Given the description of an element on the screen output the (x, y) to click on. 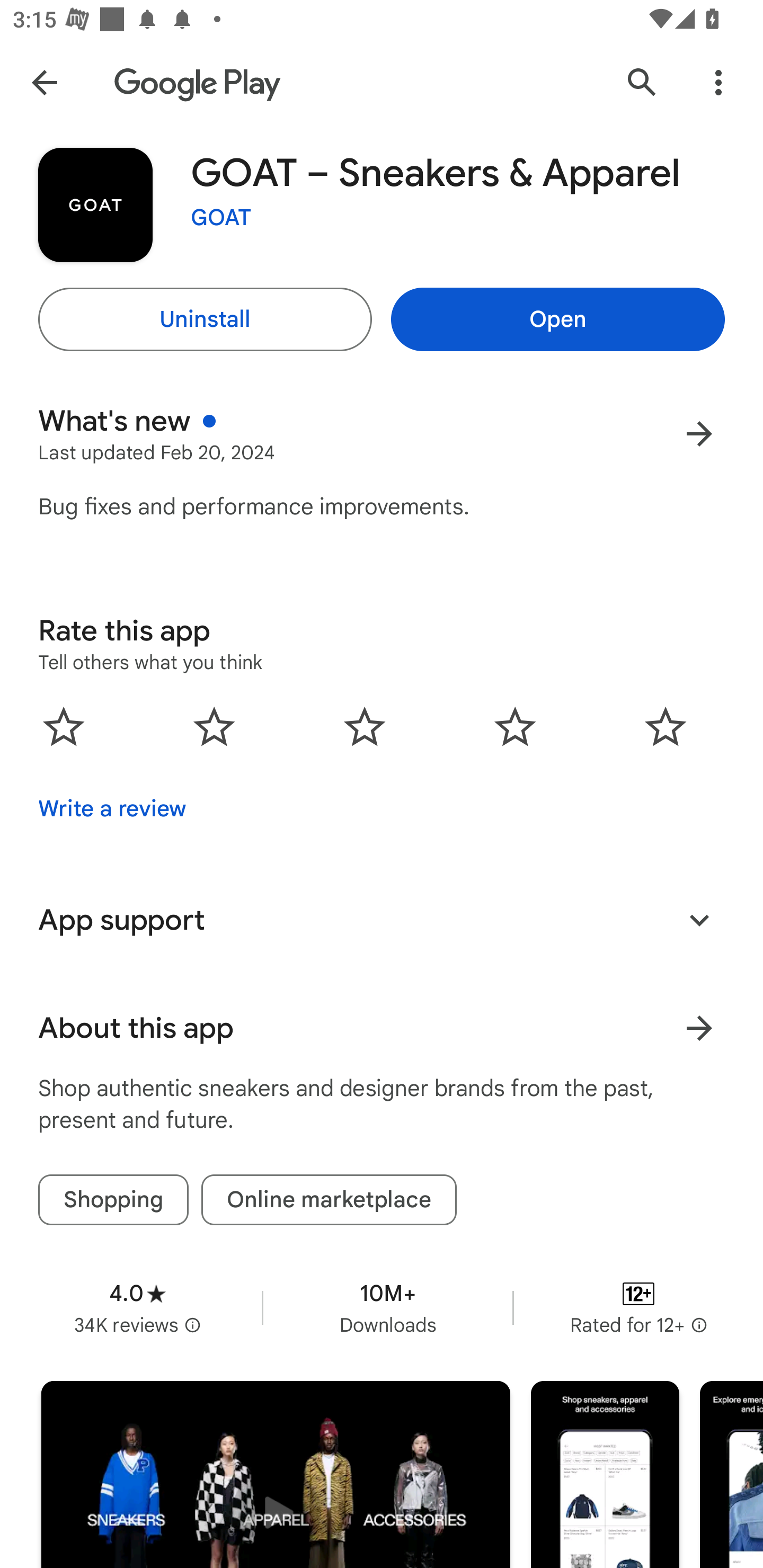
Navigate up (44, 81)
Search Google Play (642, 81)
More Options (718, 81)
GOAT (221, 217)
Uninstall (205, 318)
Open (557, 318)
More results for What's new (699, 433)
0.0 (364, 726)
Write a review (112, 808)
App support Expand (381, 919)
Expand (699, 919)
About this app Learn more About this app (381, 1027)
Learn more About this app (699, 1027)
Shopping tag (113, 1199)
Online marketplace tag (329, 1199)
Average rating 4.0 stars in 34 thousand reviews (137, 1308)
Content rating Rated for 12+ (638, 1308)
Play trailer for "GOAT – Sneakers & Apparel" (275, 1474)
Screenshot "1" of "8" (605, 1474)
